Given the description of an element on the screen output the (x, y) to click on. 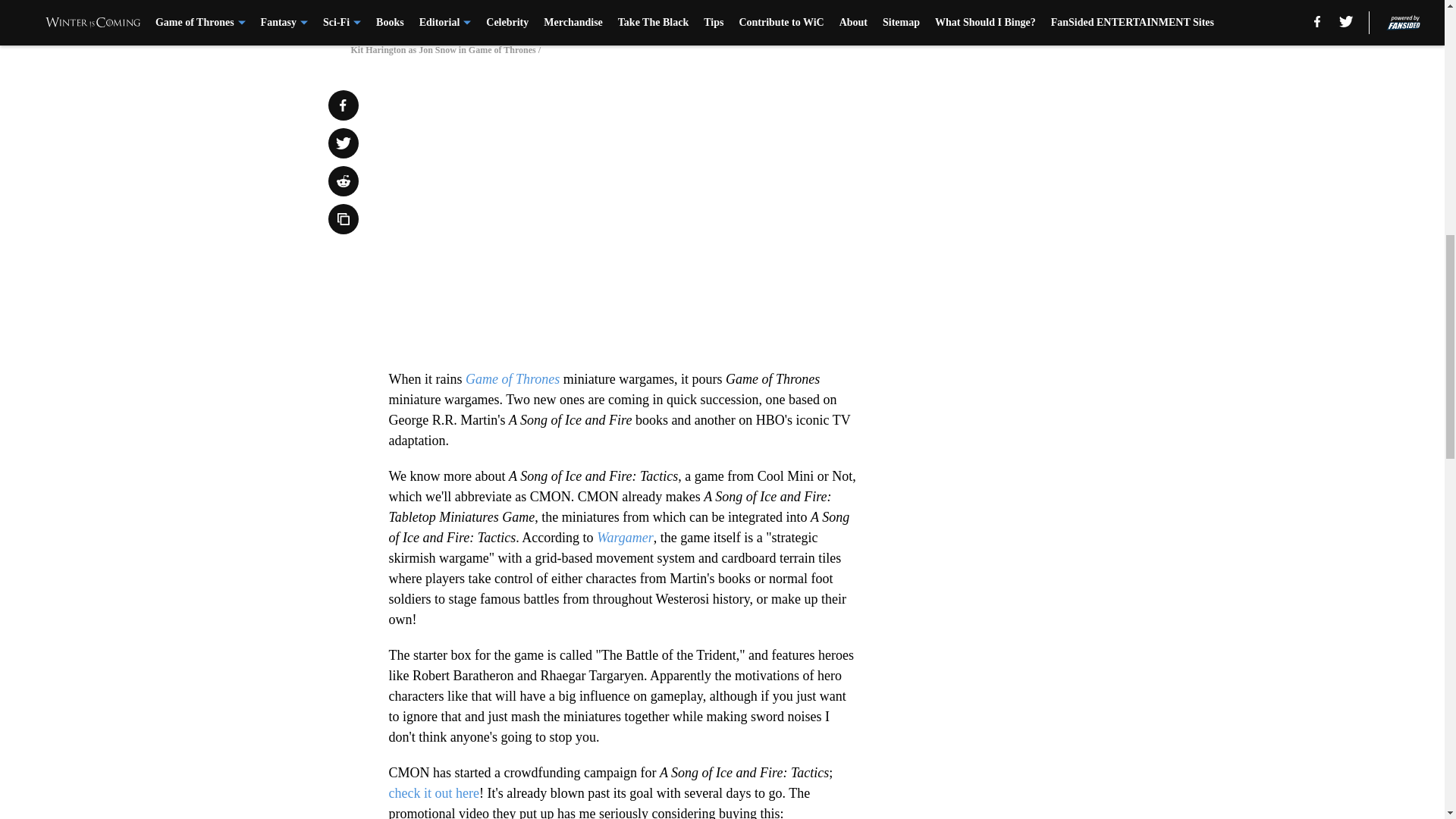
Kit Harington as Jon Snow in Game of Thrones (721, 14)
